Given the description of an element on the screen output the (x, y) to click on. 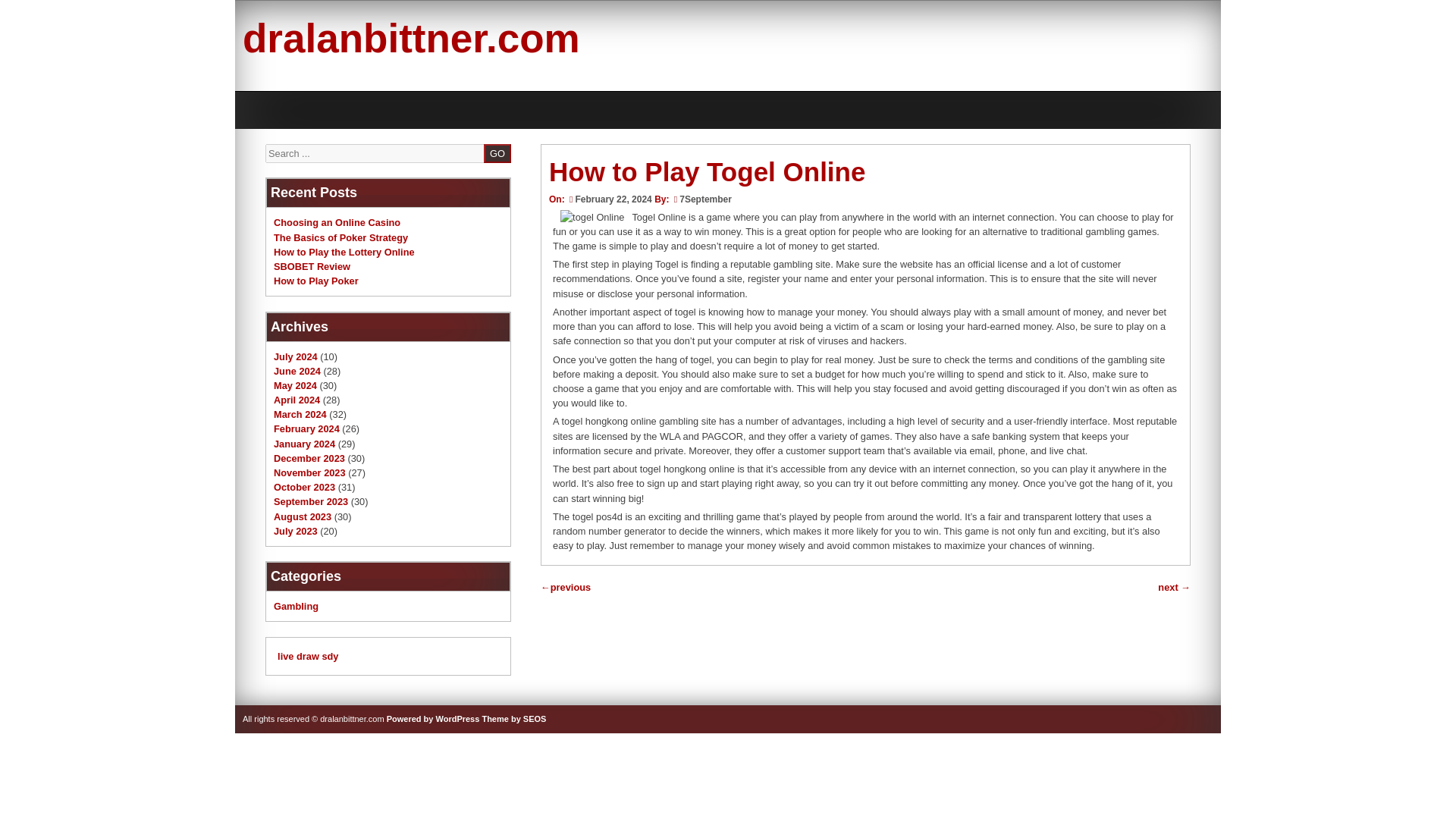
GO (497, 153)
December 2023 (309, 458)
June 2024 (296, 370)
May 2024 (295, 385)
April 2024 (296, 399)
GO (497, 153)
November 2023 (309, 472)
Seos free wordpress themes (513, 718)
Gambling (295, 605)
GO (497, 153)
